Given the description of an element on the screen output the (x, y) to click on. 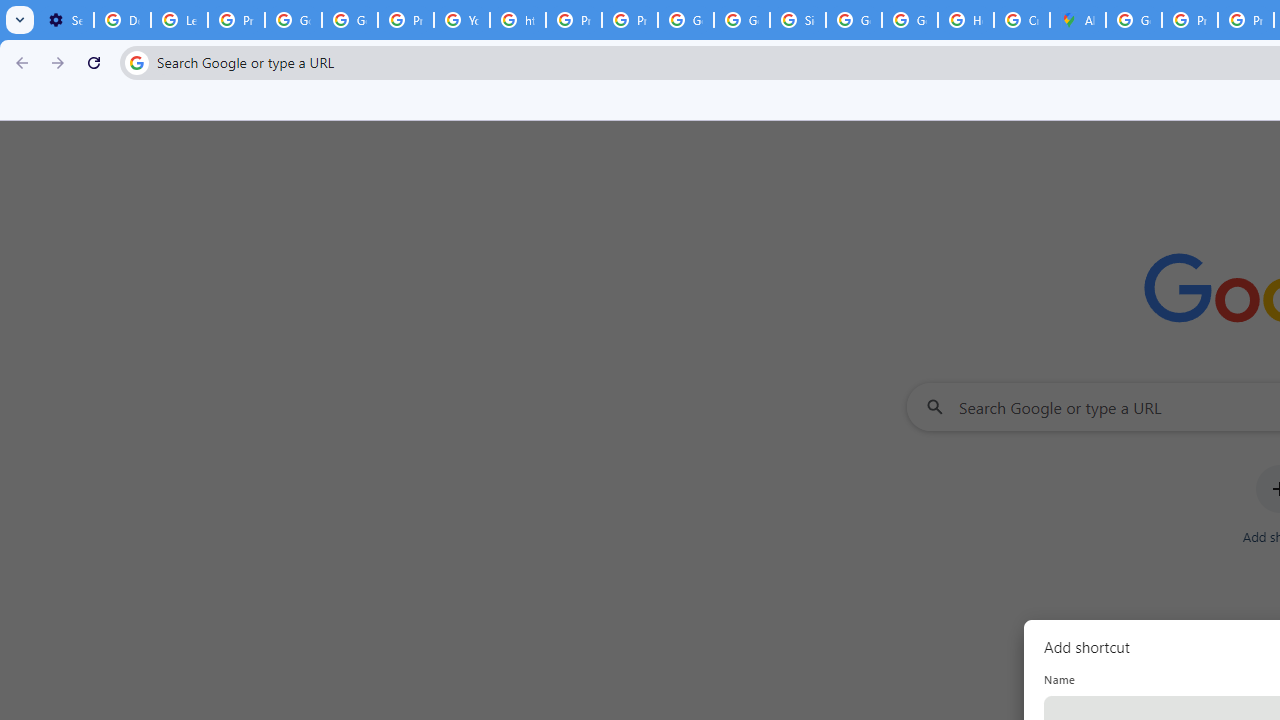
Google Account Help (293, 20)
Privacy Help Center - Policies Help (1190, 20)
Delete photos & videos - Computer - Google Photos Help (122, 20)
